Given the description of an element on the screen output the (x, y) to click on. 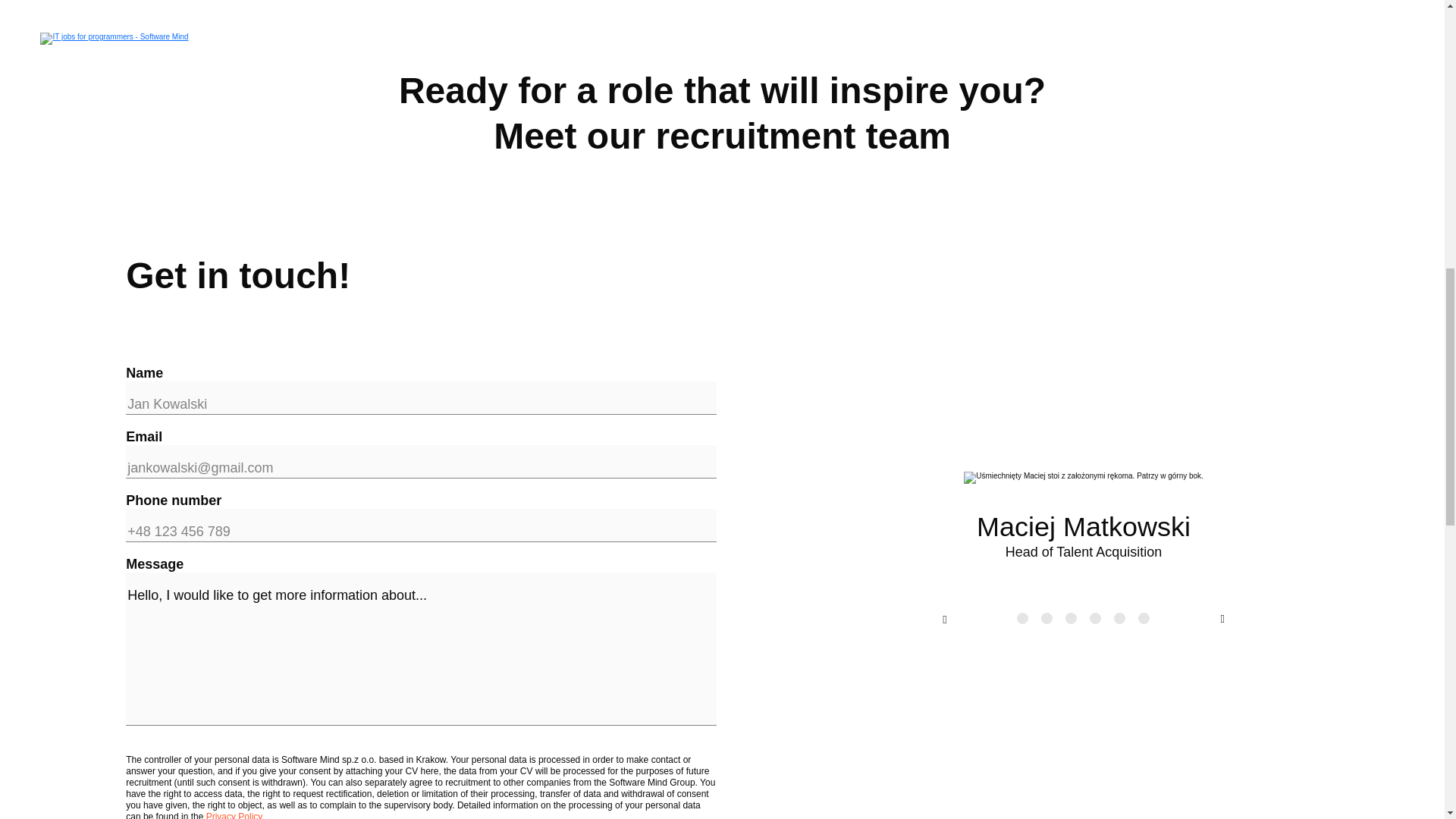
DETAILS (1292, 162)
OK, I AGREE (1292, 100)
I DO NOT AGREE (1205, 181)
Privacy Policy (208, 134)
Privacy Policy (234, 815)
OK, I AGREE (1205, 120)
Privacy policy (208, 134)
